Given the description of an element on the screen output the (x, y) to click on. 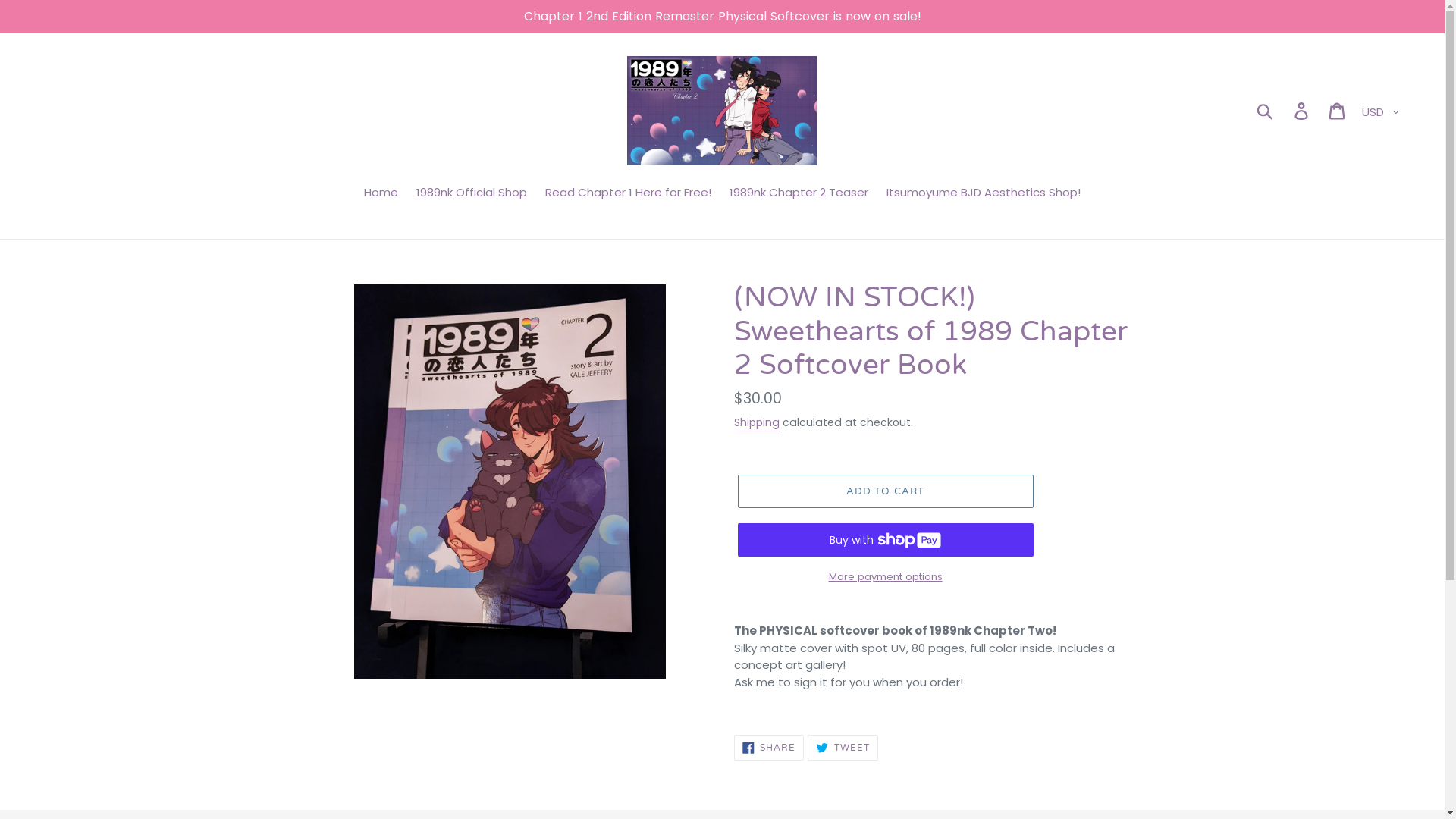
Log in Element type: text (1302, 110)
Cart Element type: text (1337, 110)
More payment options Element type: text (884, 576)
Shipping Element type: text (756, 422)
1989nk Official Shop Element type: text (471, 193)
ADD TO CART Element type: text (884, 491)
Read Chapter 1 Here for Free! Element type: text (627, 193)
1989nk Chapter 2 Teaser Element type: text (798, 193)
Itsumoyume BJD Aesthetics Shop! Element type: text (983, 193)
Home Element type: text (380, 193)
SHARE
SHARE ON FACEBOOK Element type: text (769, 747)
Submit Element type: text (1265, 110)
TWEET
TWEET ON TWITTER Element type: text (842, 747)
